Given the description of an element on the screen output the (x, y) to click on. 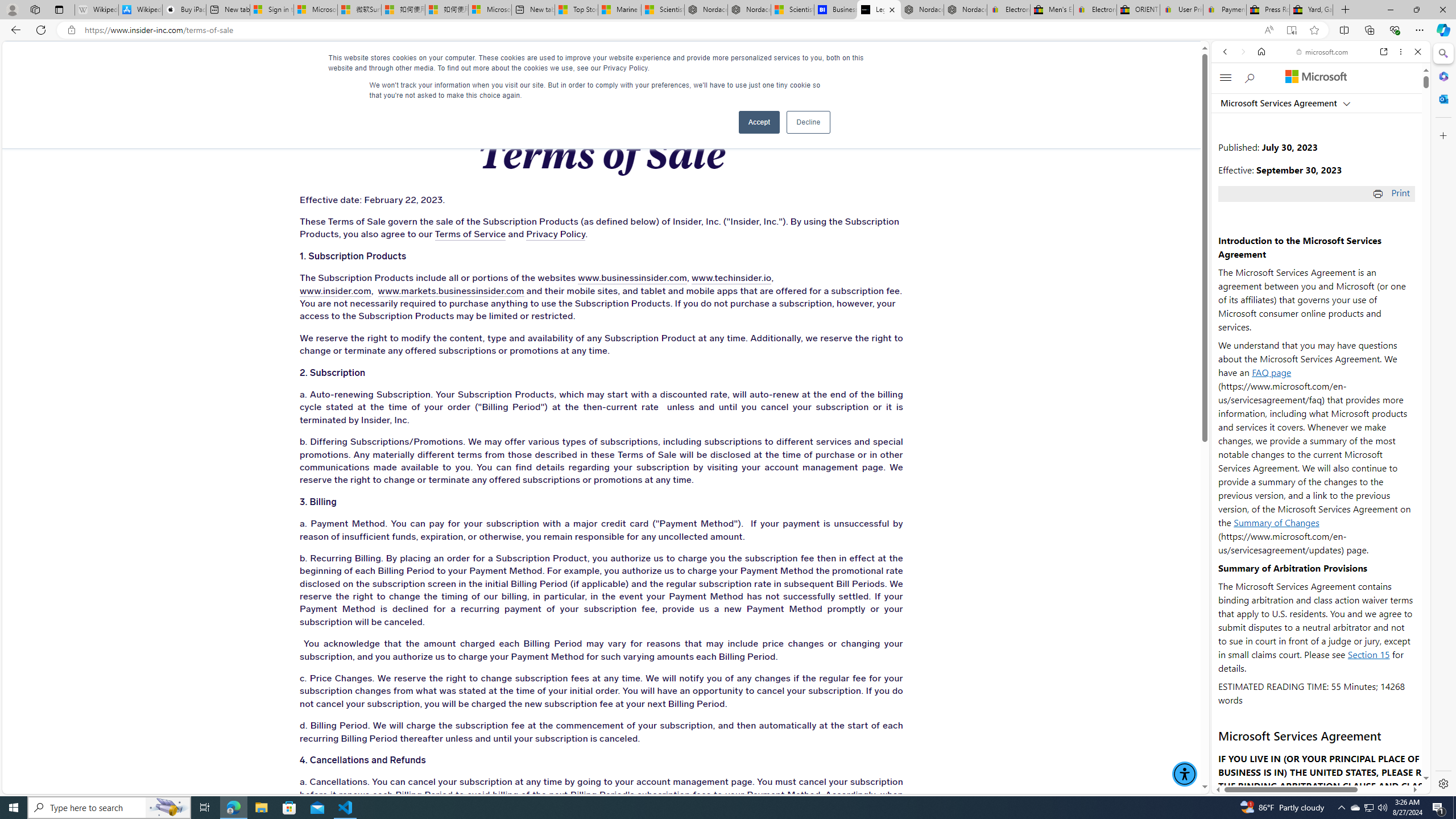
WHO WE ARE (347, 62)
Marine life - MSN (619, 9)
Terms of Service (469, 234)
CAREERS (830, 62)
Decline (807, 121)
CONTACT US (942, 62)
Accept (759, 121)
Insider Inc. (601, 62)
